Given the description of an element on the screen output the (x, y) to click on. 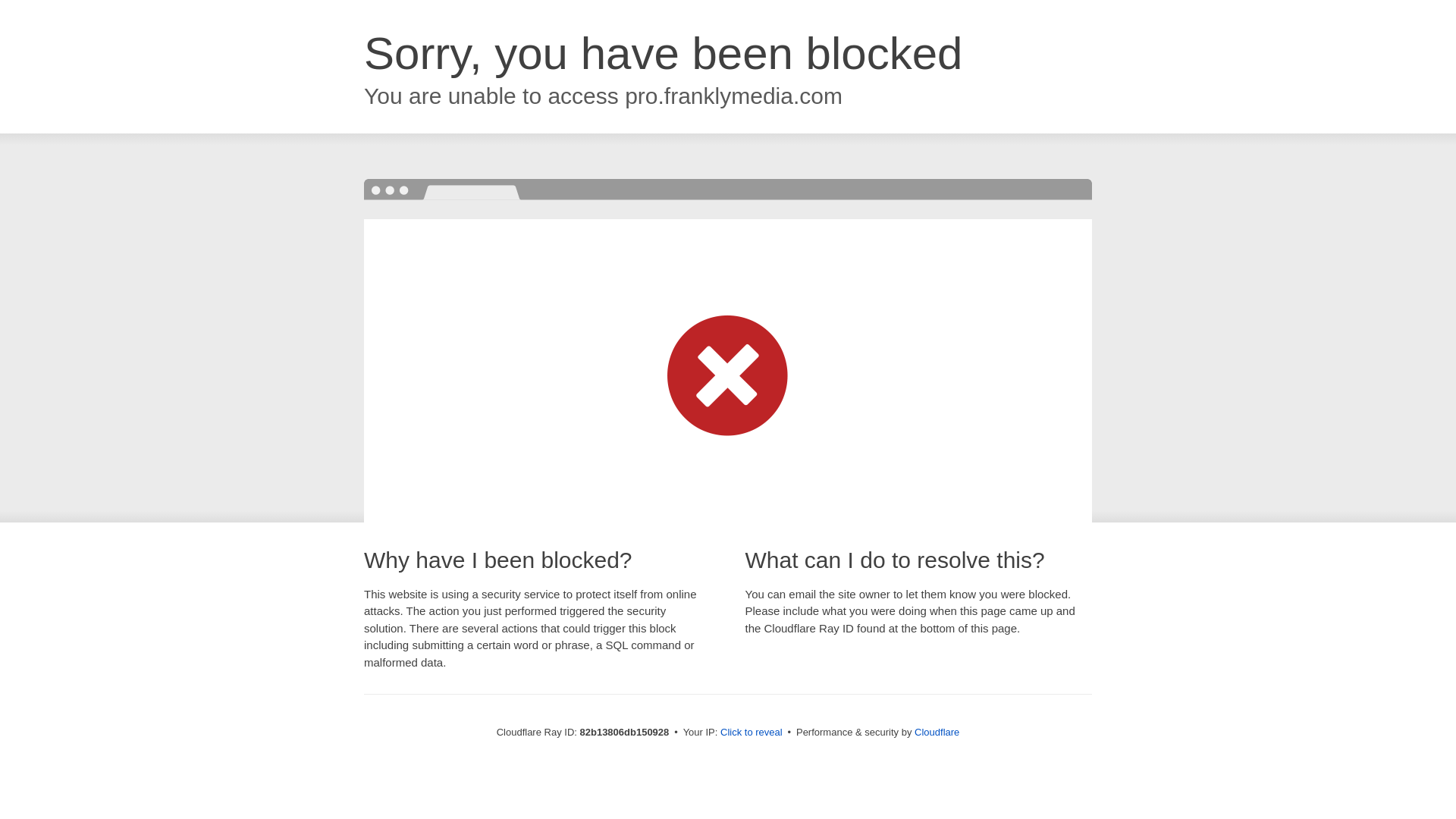
Click to reveal Element type: text (751, 732)
Cloudflare Element type: text (936, 731)
